Given the description of an element on the screen output the (x, y) to click on. 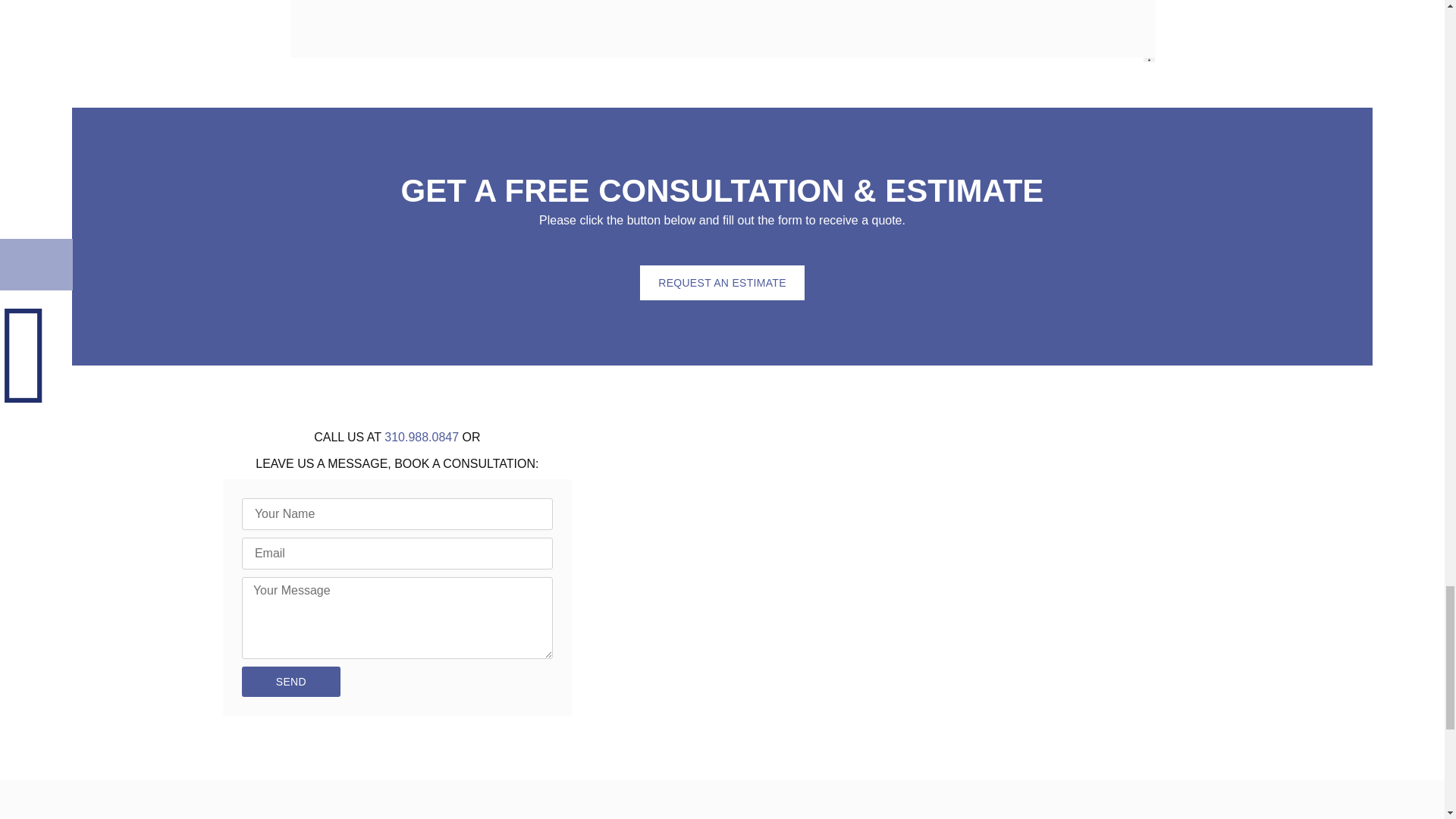
310.988.0847 (421, 436)
REQUEST AN ESTIMATE (722, 282)
SEND (290, 681)
